Given the description of an element on the screen output the (x, y) to click on. 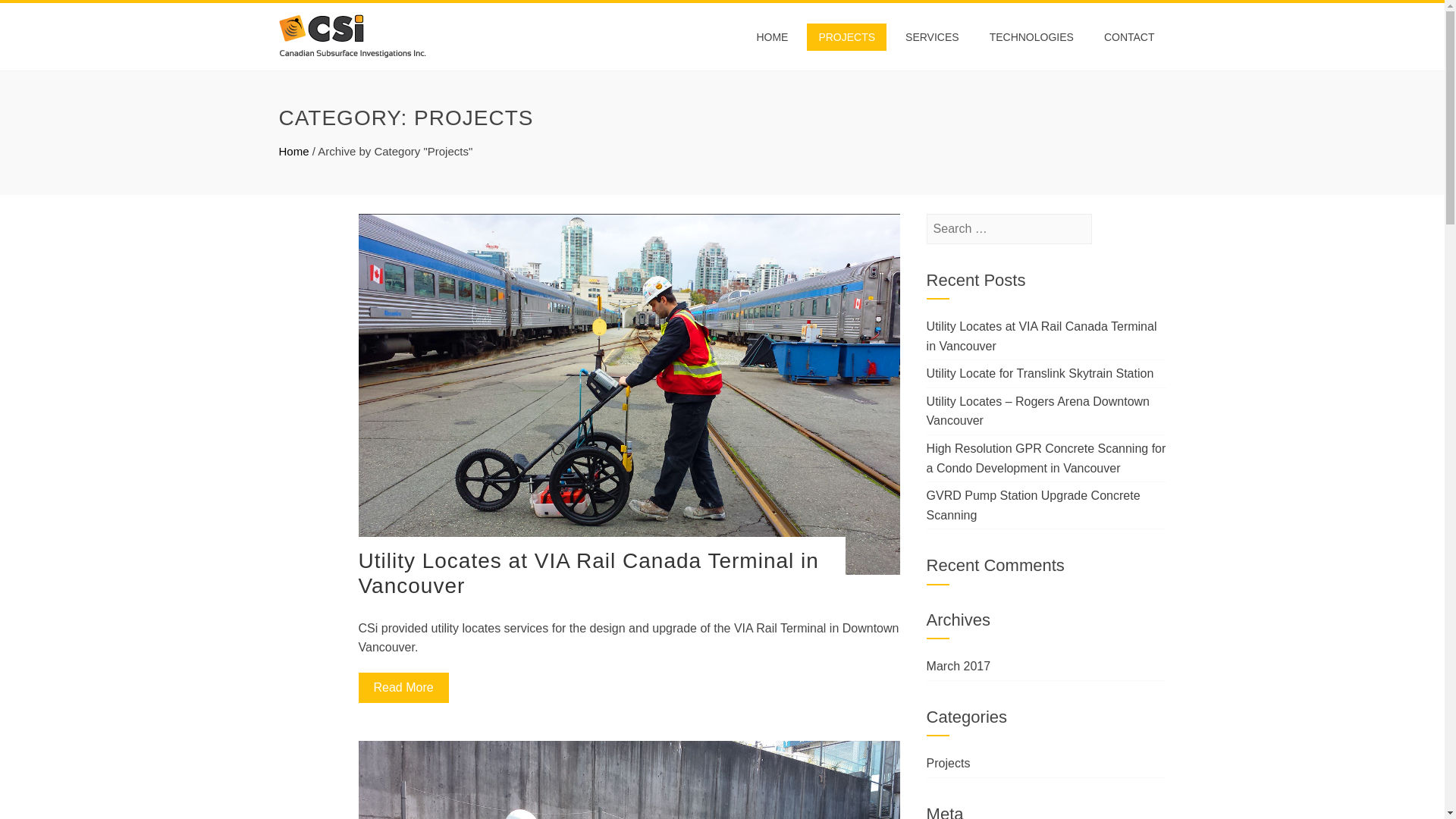
TECHNOLOGIES (1029, 36)
SERVICES (925, 36)
CONTACT (1129, 36)
Read More (403, 687)
PROJECTS (835, 36)
Search (34, 15)
Utility Locates at VIA Rail Canada Terminal in Vancouver (588, 573)
Utility Locate for Translink Skytrain Station (1040, 373)
Home (293, 151)
HOME (758, 36)
